Given the description of an element on the screen output the (x, y) to click on. 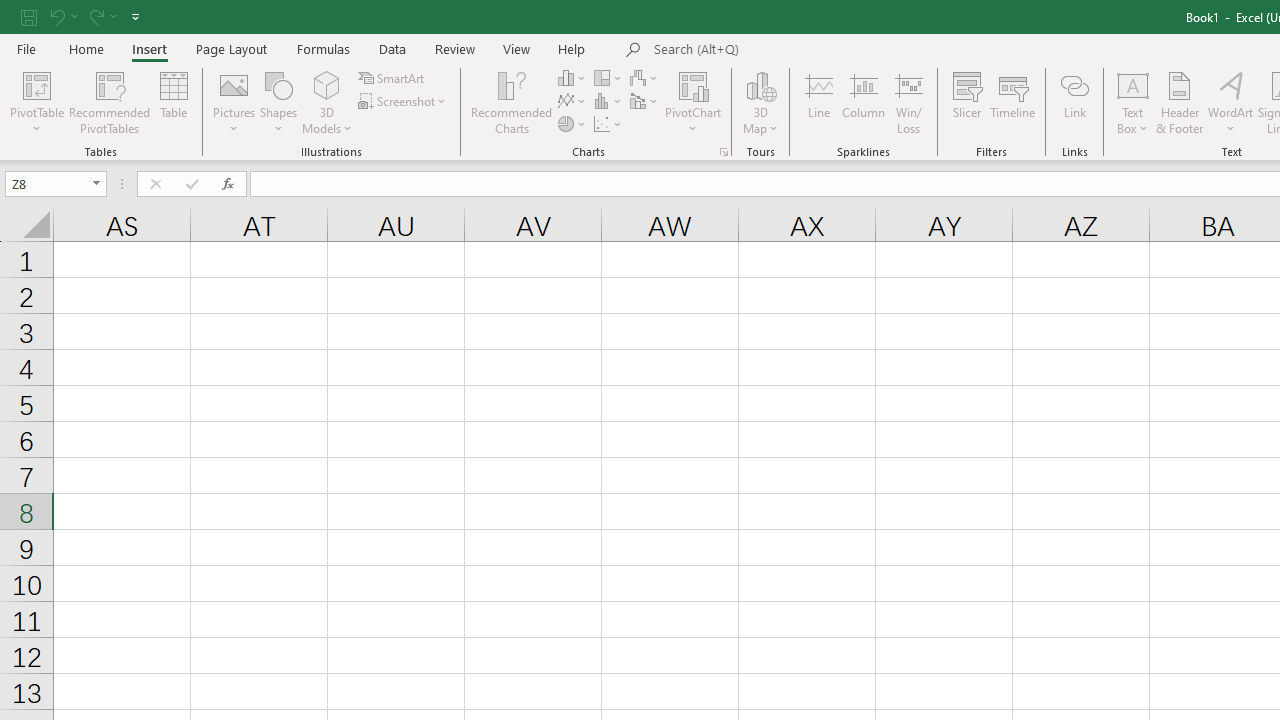
Pictures (234, 102)
Customize Quick Access Toolbar (135, 15)
Insert Line or Area Chart (573, 101)
PivotChart (693, 102)
Column (863, 102)
Recommended PivotTables (109, 102)
Shapes (278, 102)
Screenshot (403, 101)
Draw Horizontal Text Box (1133, 84)
